Given the description of an element on the screen output the (x, y) to click on. 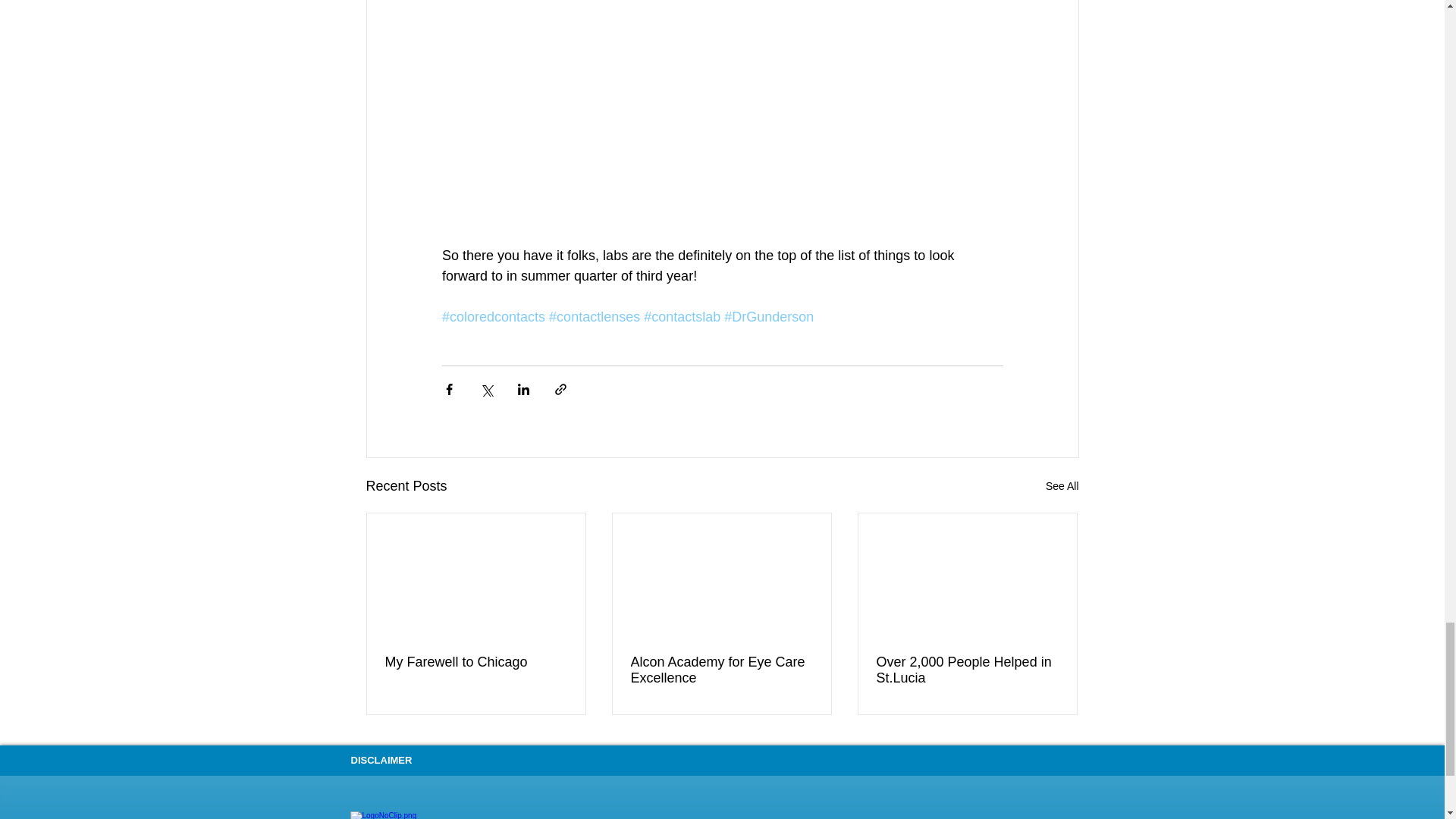
Over 2,000 People Helped in St.Lucia (967, 670)
My Farewell to Chicago (476, 662)
Alcon Academy for Eye Care Excellence (721, 670)
See All (1061, 486)
